Given the description of an element on the screen output the (x, y) to click on. 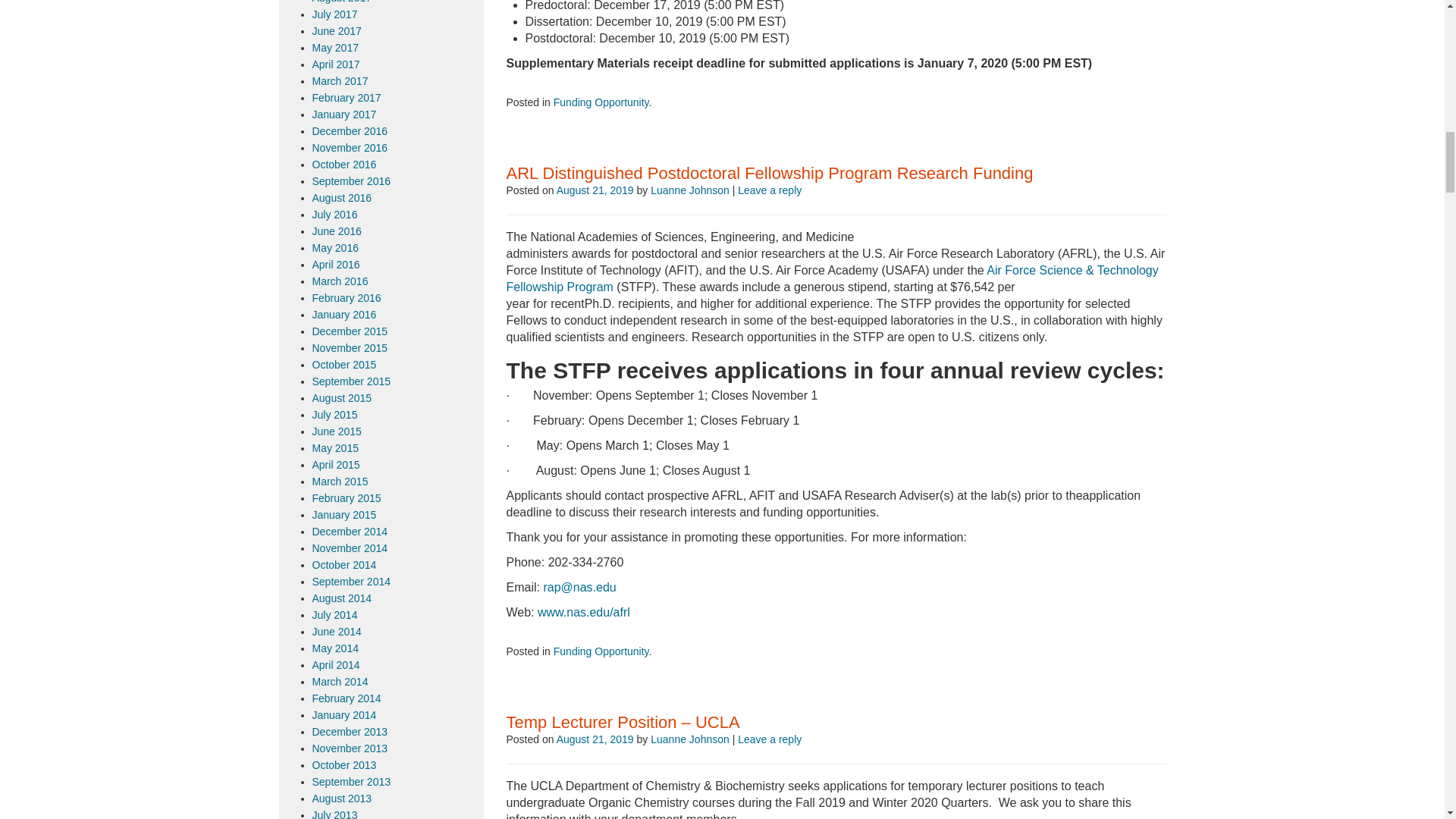
View all posts by Luanne Johnson (689, 190)
Luanne Johnson (689, 190)
Leave a reply (770, 190)
Funding Opportunity (601, 102)
Funding Opportunity (601, 651)
9:31 am (594, 190)
August 21, 2019 (594, 190)
